Given the description of an element on the screen output the (x, y) to click on. 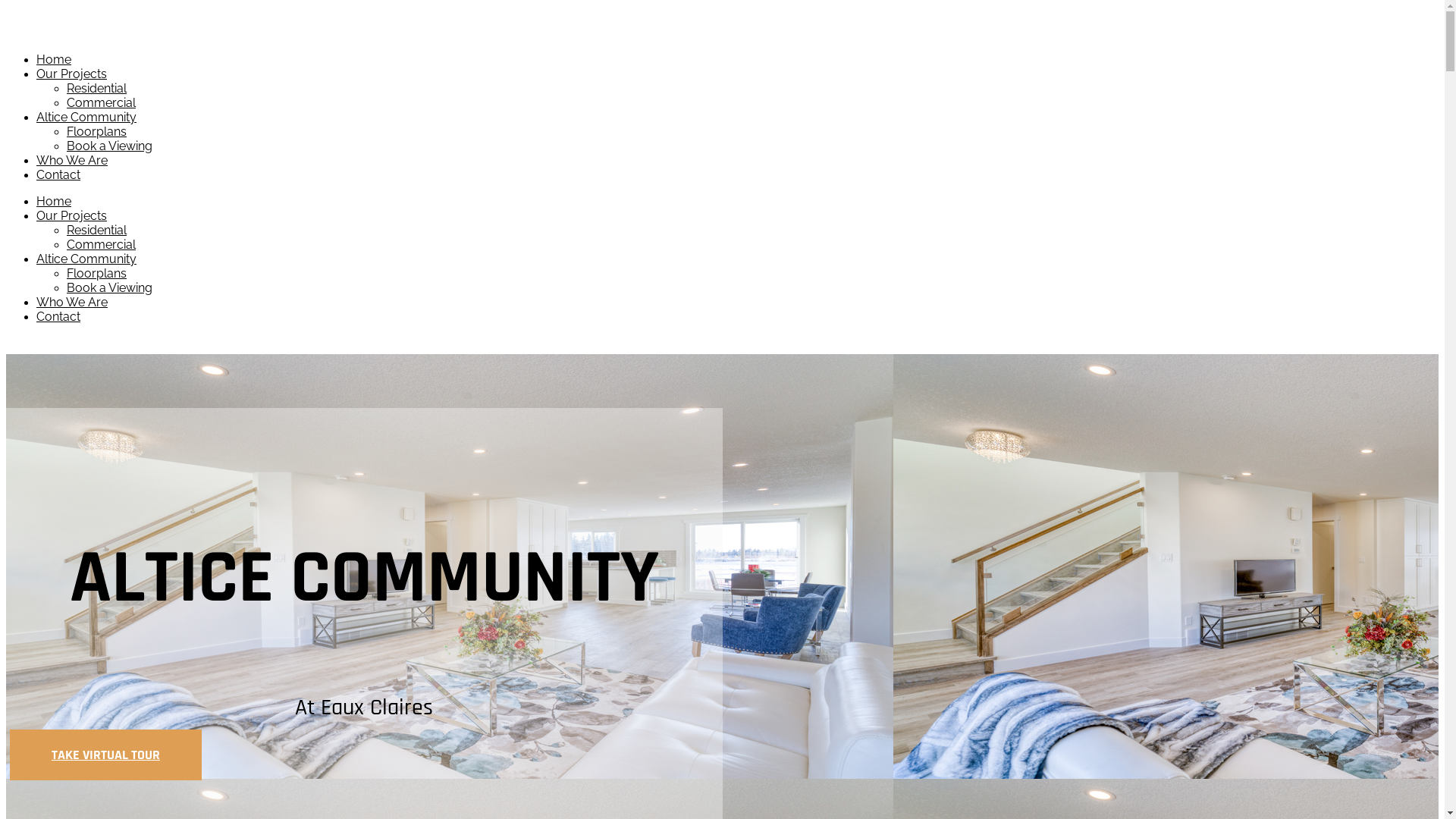
Our Projects Element type: text (71, 215)
Floorplans Element type: text (96, 273)
Altice Community Element type: text (86, 258)
Our Projects Element type: text (71, 73)
Home Element type: text (53, 201)
Floorplans Element type: text (96, 131)
Contact Element type: text (58, 174)
Contact Element type: text (58, 316)
Who We Are Element type: text (71, 160)
Altice Community Element type: text (86, 116)
Commercial Element type: text (100, 244)
Commercial Element type: text (100, 102)
Residential Element type: text (96, 88)
TAKE VIRTUAL TOUR Element type: text (105, 754)
Book a Viewing Element type: text (109, 287)
Home Element type: text (53, 59)
Book a Viewing Element type: text (109, 145)
Residential Element type: text (96, 229)
Who We Are Element type: text (71, 301)
